Given the description of an element on the screen output the (x, y) to click on. 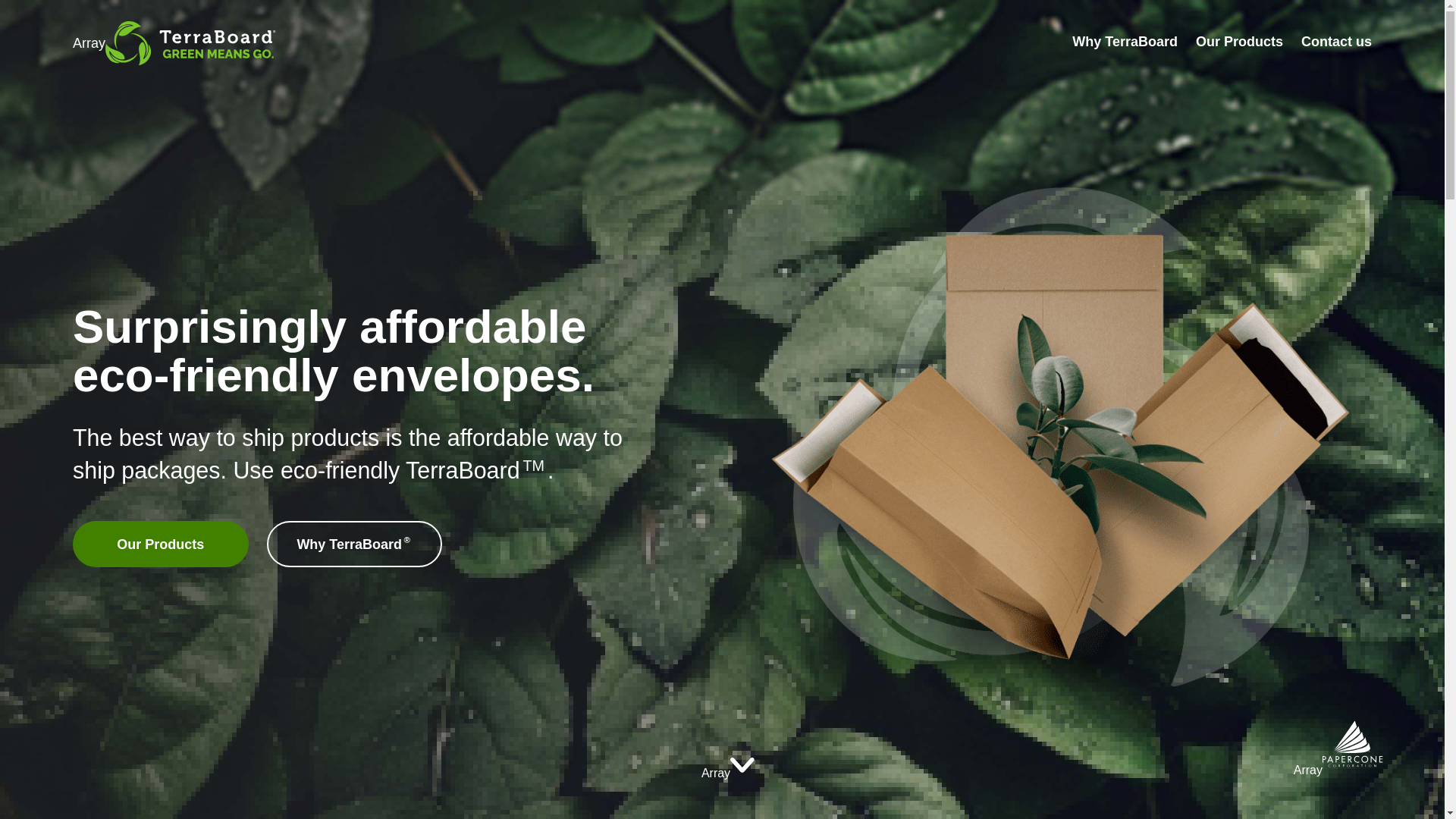
Search (918, 2)
Array (174, 43)
Why TerraBoard (1124, 43)
Array (1338, 769)
Our Products (1238, 43)
Array (727, 772)
Contact us (1336, 43)
Our Products (160, 543)
